Given the description of an element on the screen output the (x, y) to click on. 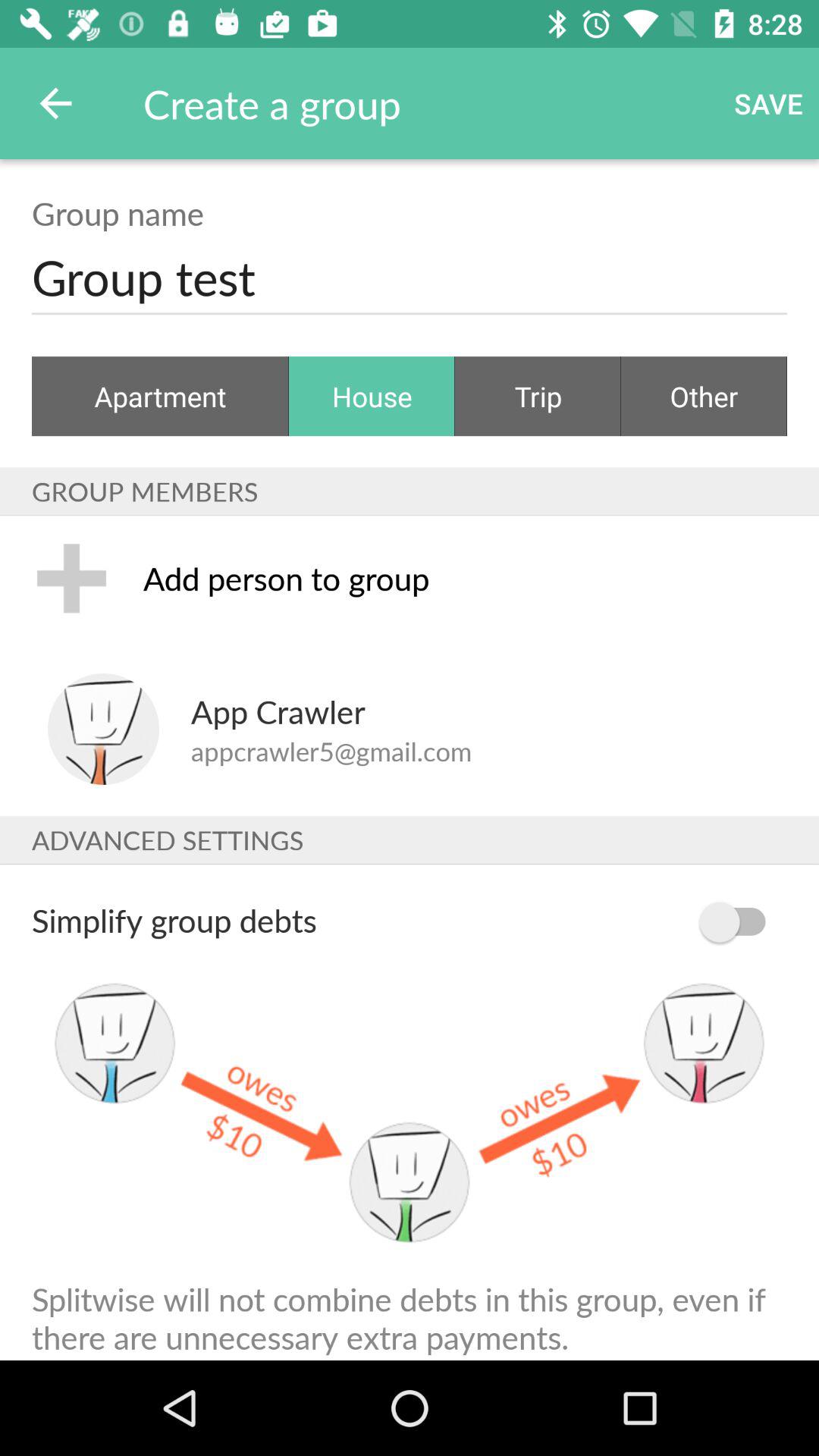
turn off the save (768, 103)
